Given the description of an element on the screen output the (x, y) to click on. 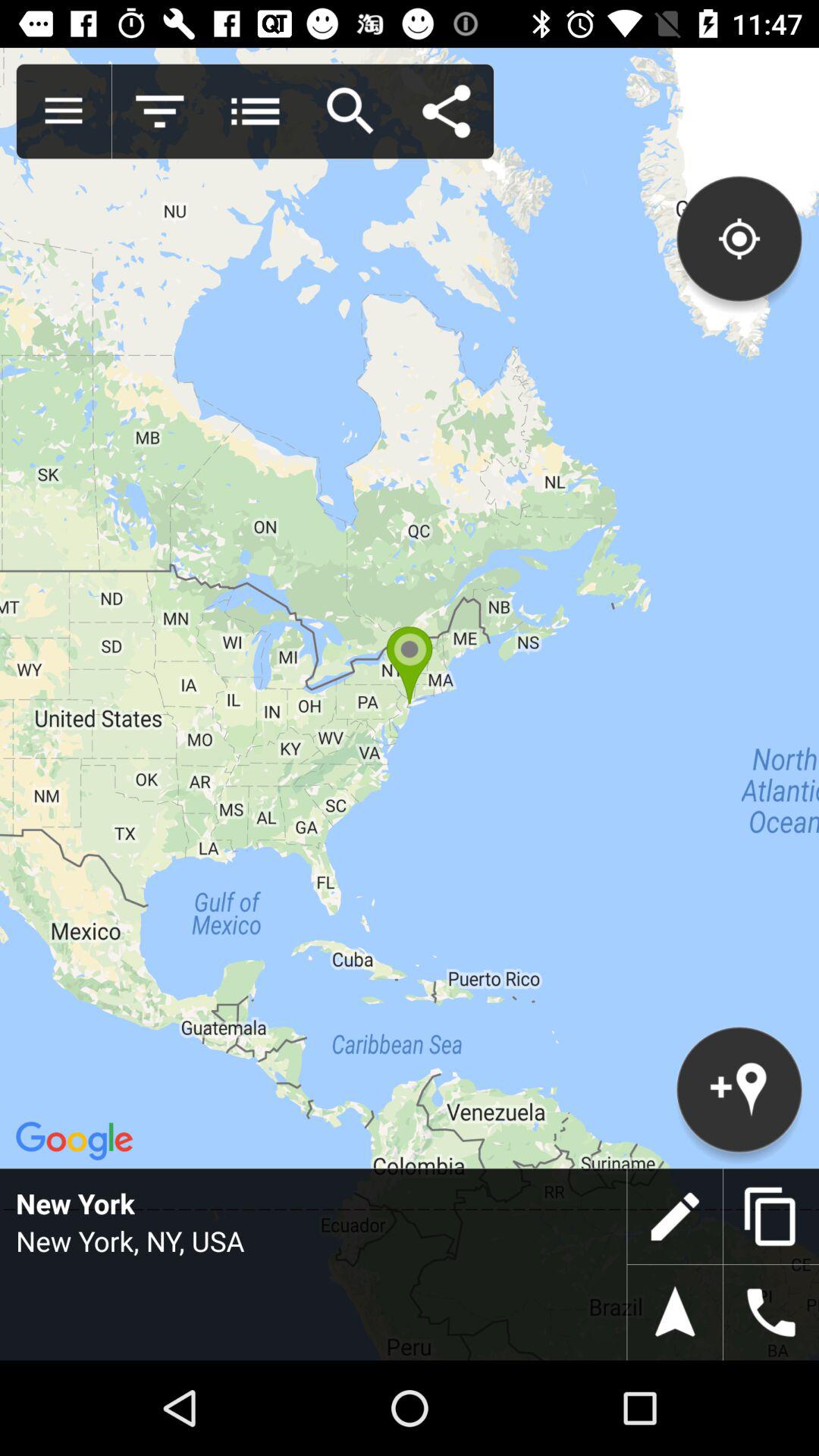
call (771, 1312)
